Given the description of an element on the screen output the (x, y) to click on. 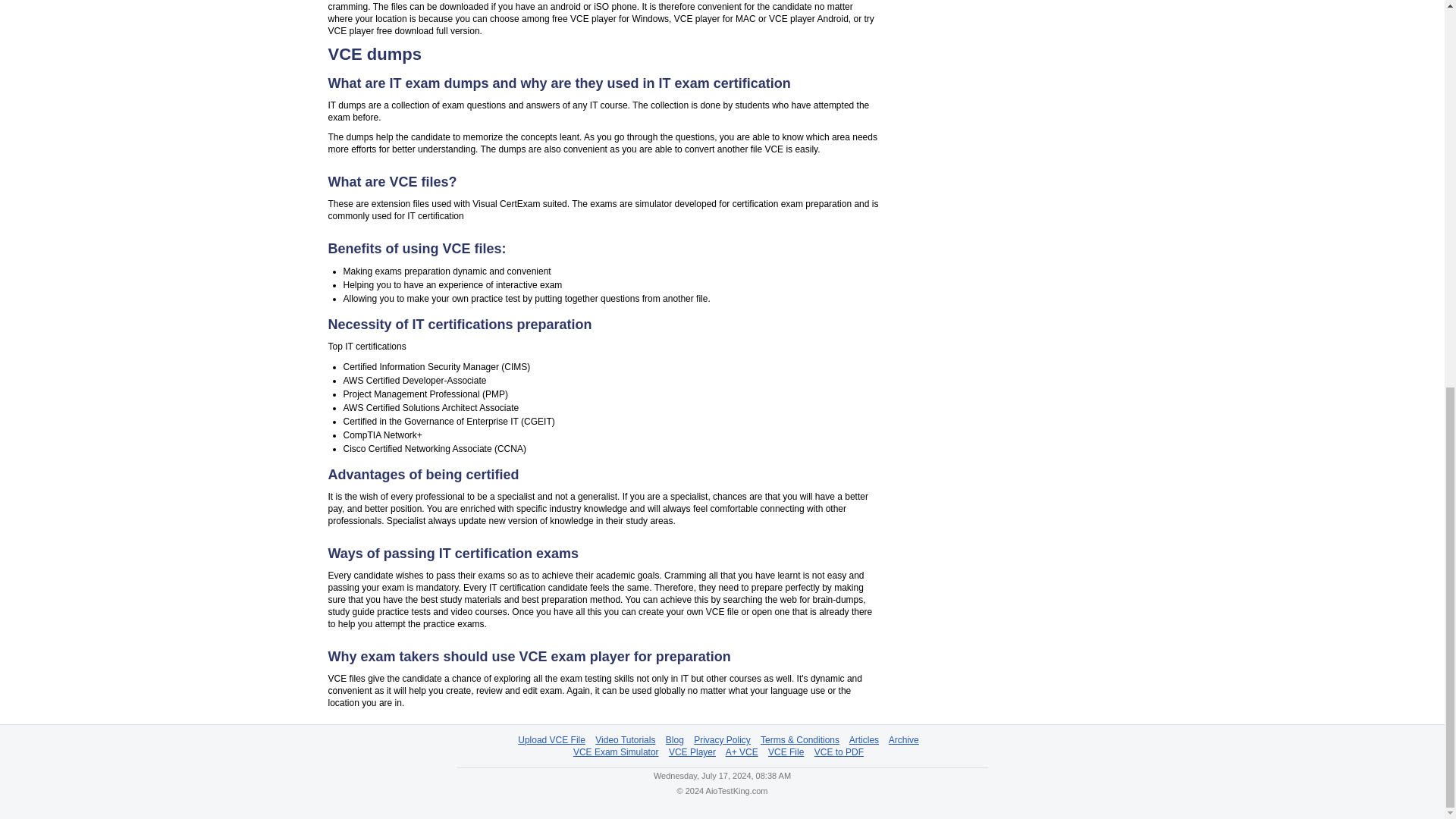
Privacy Policy (722, 739)
Upload VCE File (551, 739)
Archive (903, 739)
Articles (863, 739)
Video Tutorials (625, 739)
Blog (674, 739)
